Given the description of an element on the screen output the (x, y) to click on. 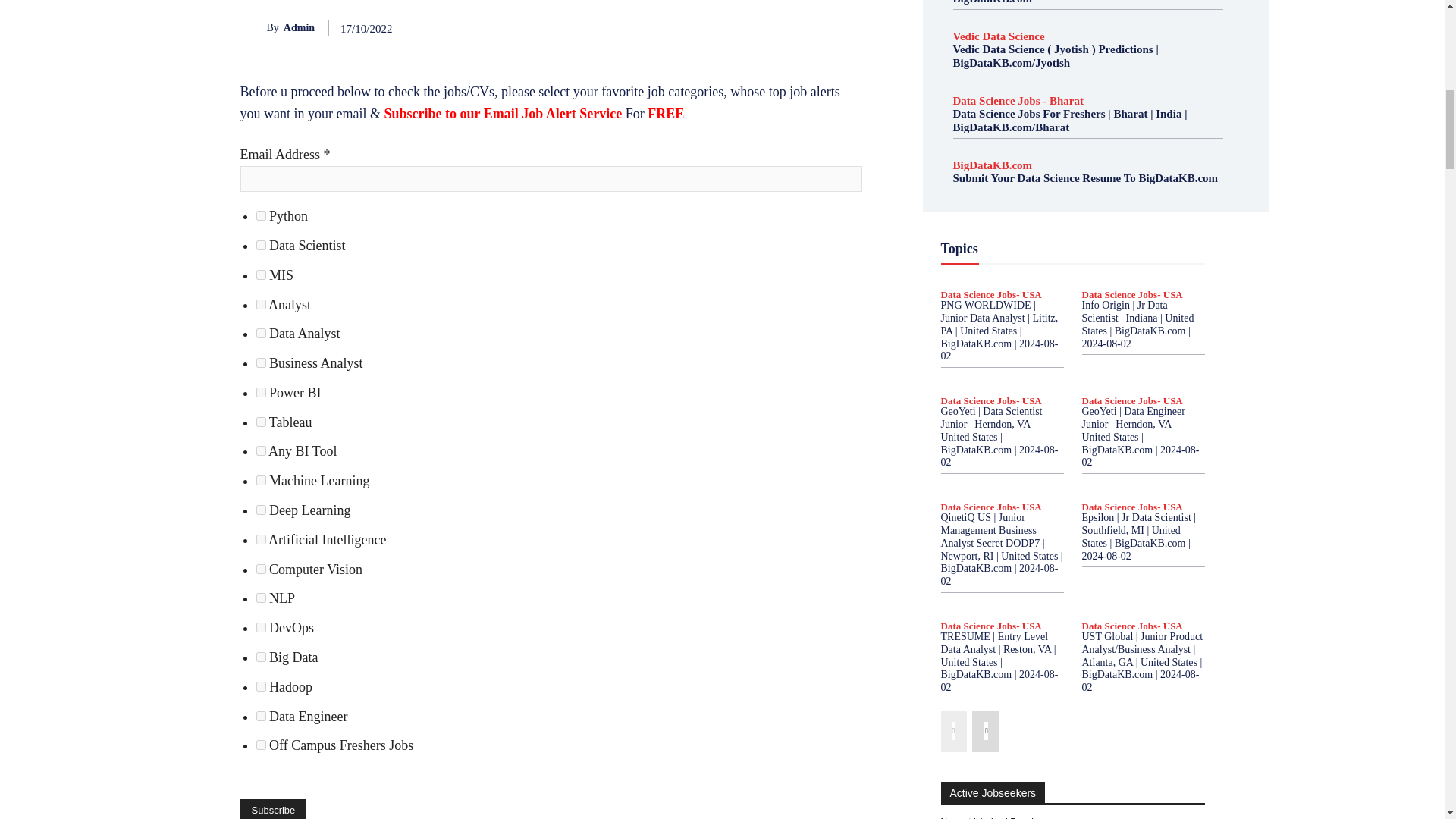
Admin (253, 27)
1024 (261, 510)
8192 (261, 597)
4 (261, 245)
4096 (261, 569)
2048 (261, 539)
64 (261, 392)
16 (261, 333)
8 (261, 303)
16384 (261, 627)
